Given the description of an element on the screen output the (x, y) to click on. 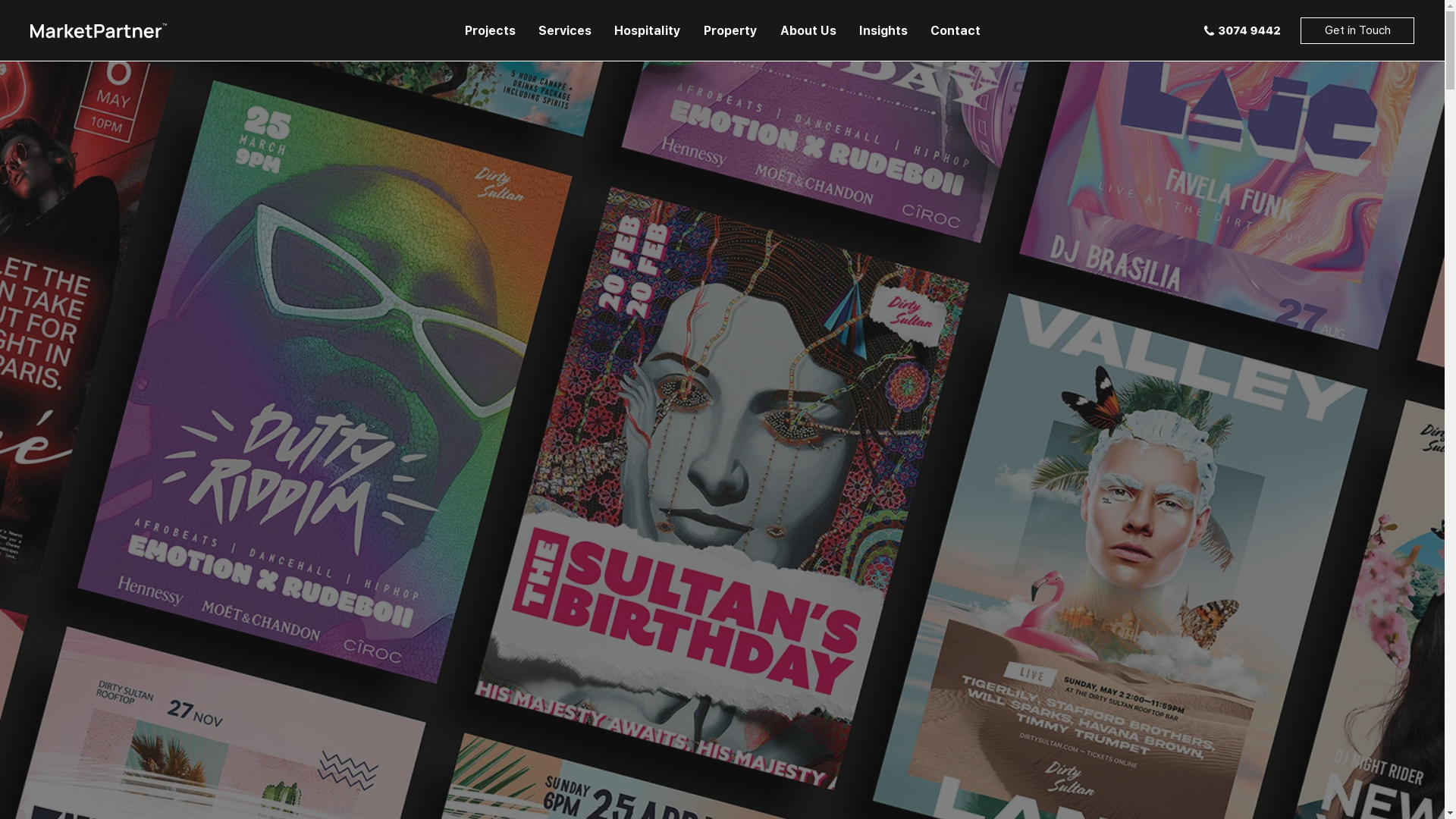
Contact Element type: text (955, 30)
Hospitality Element type: text (646, 30)
Get in Touch Element type: text (1357, 30)
About Us Element type: text (807, 30)
Projects Element type: text (490, 30)
Property Element type: text (729, 30)
Services Element type: text (564, 30)
Insights Element type: text (883, 30)
